Given the description of an element on the screen output the (x, y) to click on. 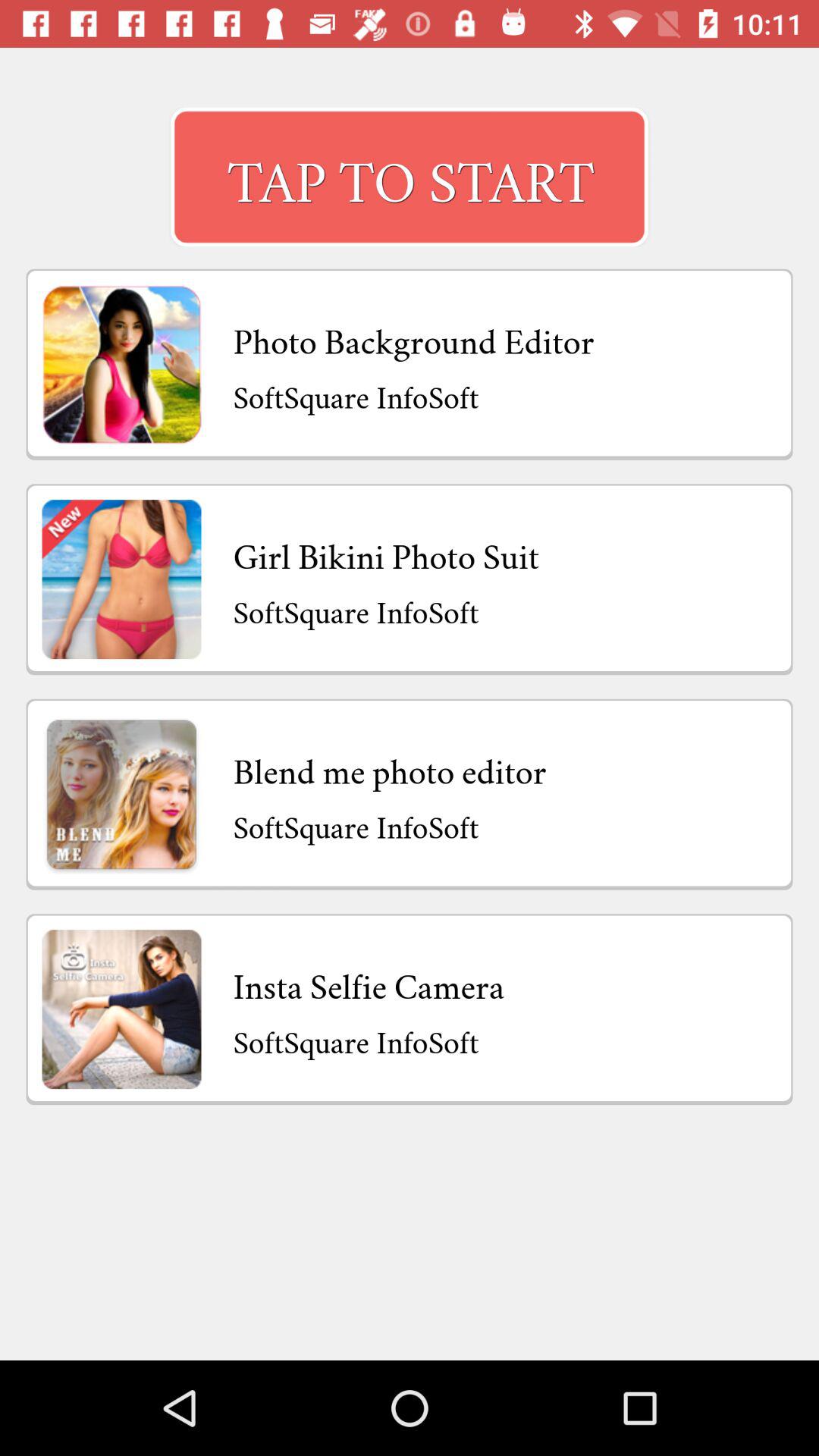
press item below softsquare infosoft icon (368, 982)
